Given the description of an element on the screen output the (x, y) to click on. 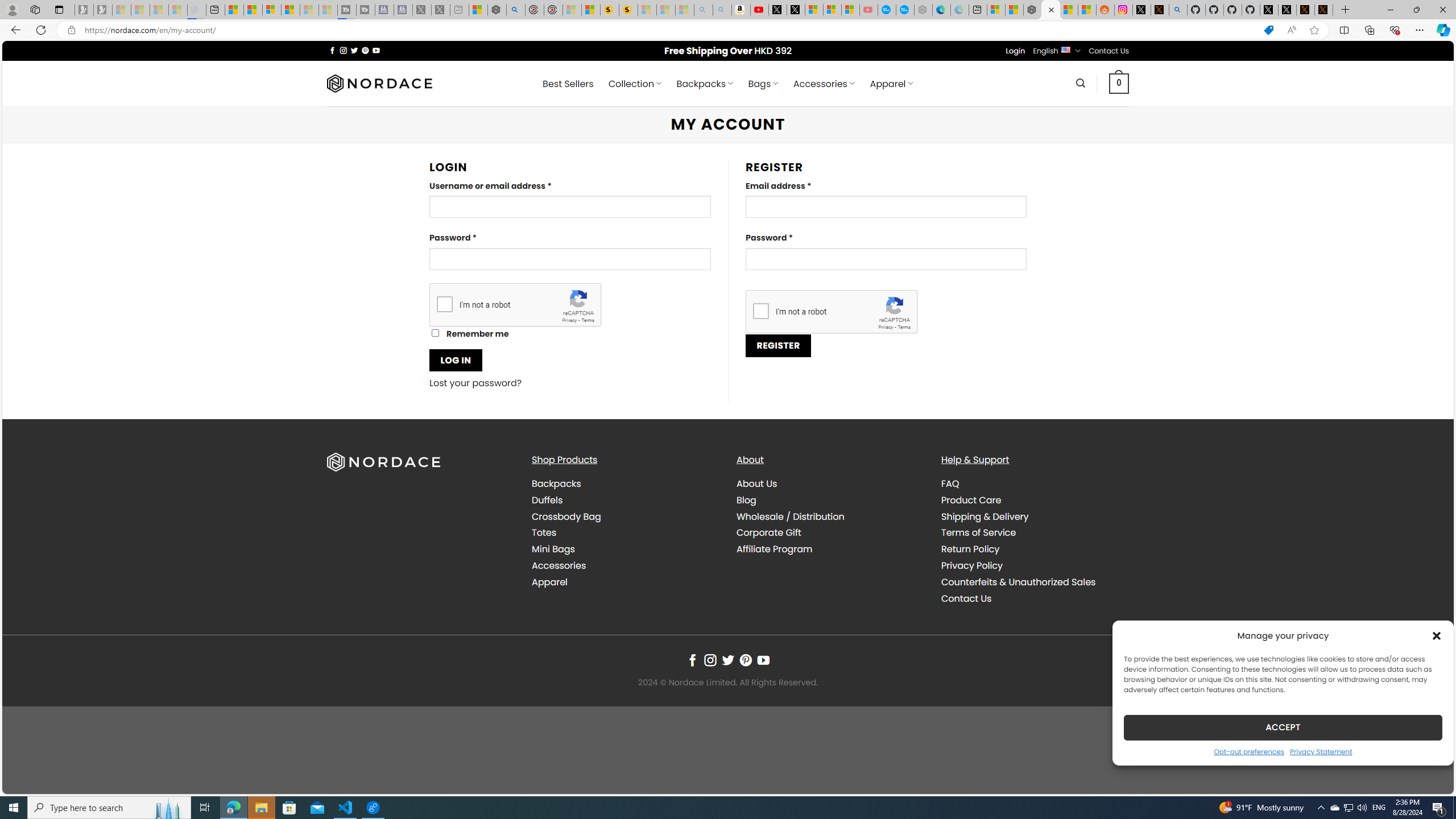
Crossbody Bag (566, 516)
ACCEPT (1283, 727)
Totes (543, 532)
Counterfeits & Unauthorized Sales (1034, 581)
Wholesale / Distribution (790, 516)
Shipping & Delivery (1034, 516)
Counterfeits & Unauthorized Sales (1018, 581)
Backpacks (625, 483)
 Best Sellers (568, 83)
Terms of Service (978, 532)
Follow on Facebook (691, 659)
